Given the description of an element on the screen output the (x, y) to click on. 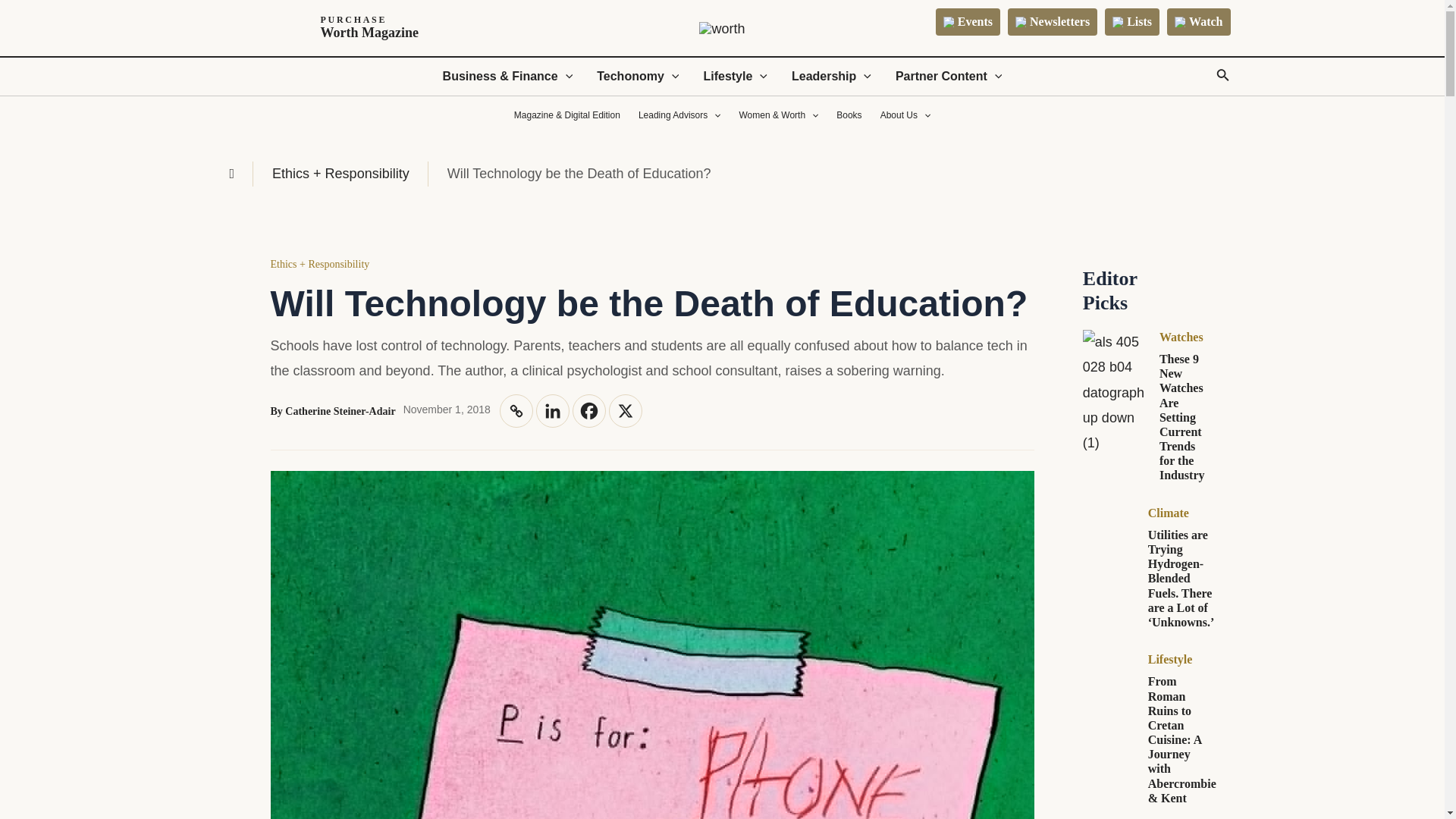
Leading Advisors (679, 115)
Partner Content (948, 76)
Lists (1131, 22)
X (625, 410)
Lifestyle (330, 28)
Copy Link (734, 76)
Newsletters (515, 410)
Events (1052, 22)
Facebook (968, 22)
